Given the description of an element on the screen output the (x, y) to click on. 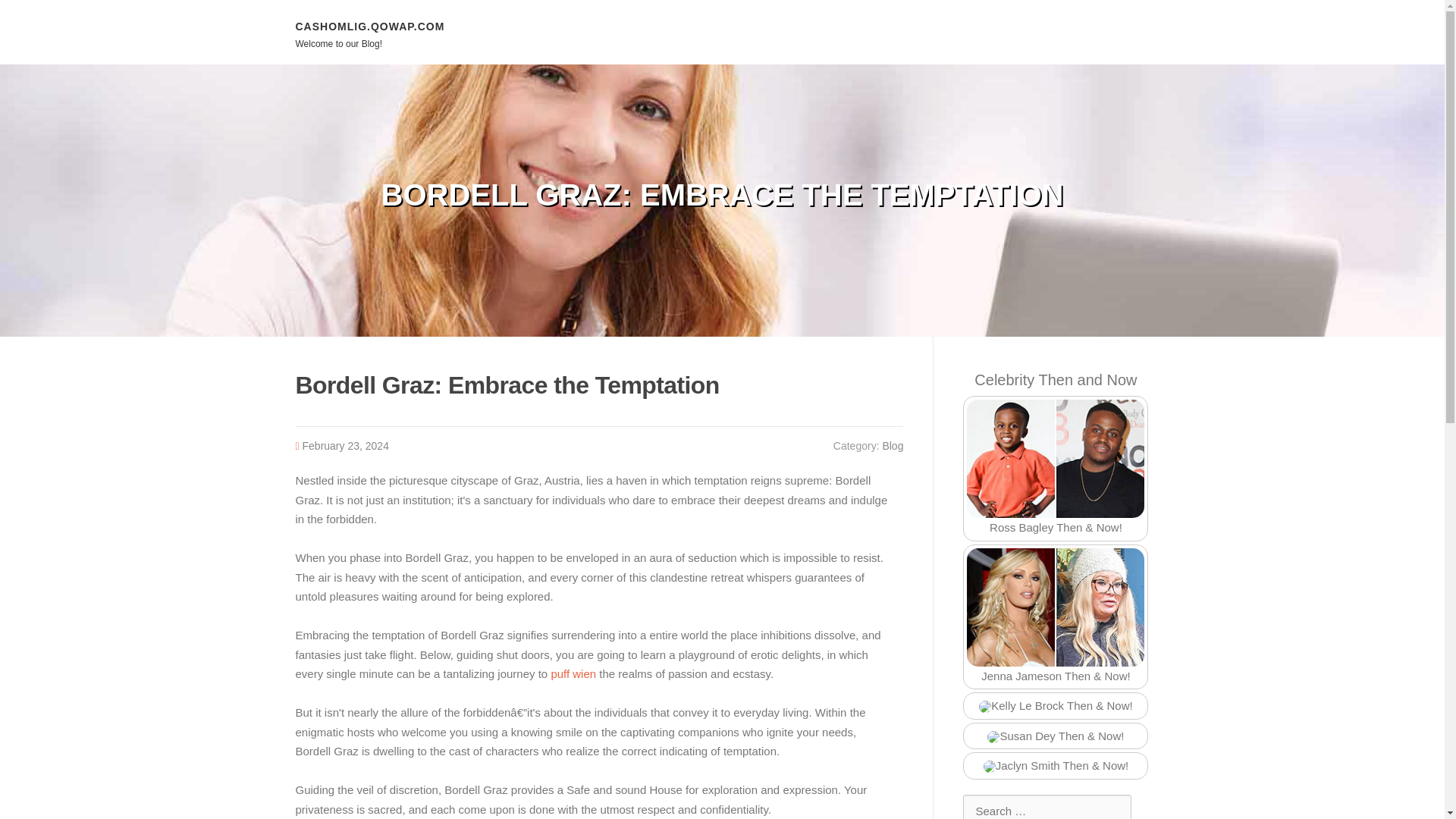
puff wien (572, 673)
CASHOMLIG.QOWAP.COM (370, 25)
February 23, 2024 (345, 445)
Blog (892, 445)
Skip to content (37, 9)
